Given the description of an element on the screen output the (x, y) to click on. 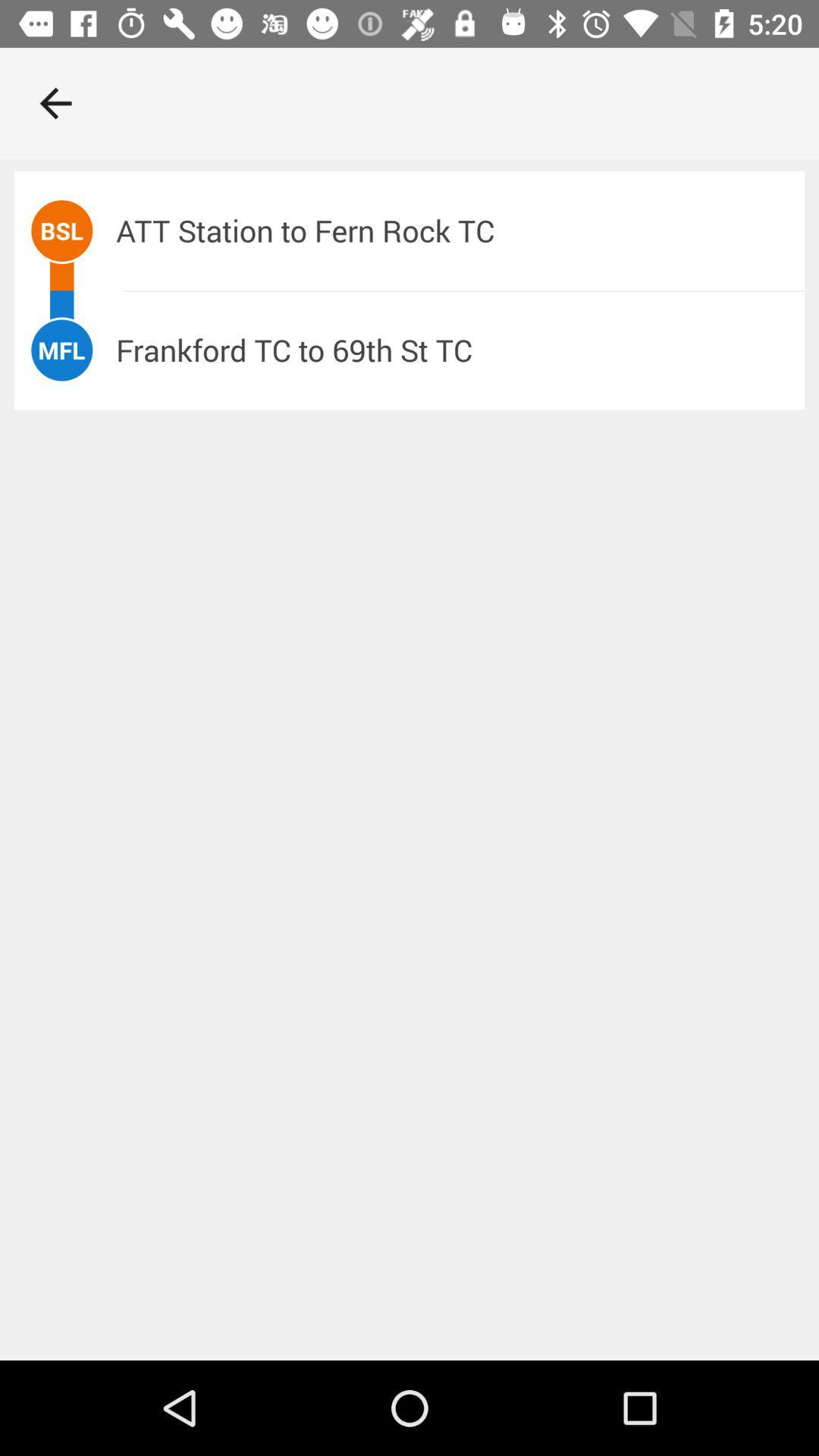
select the frankford tc to (460, 349)
